Given the description of an element on the screen output the (x, y) to click on. 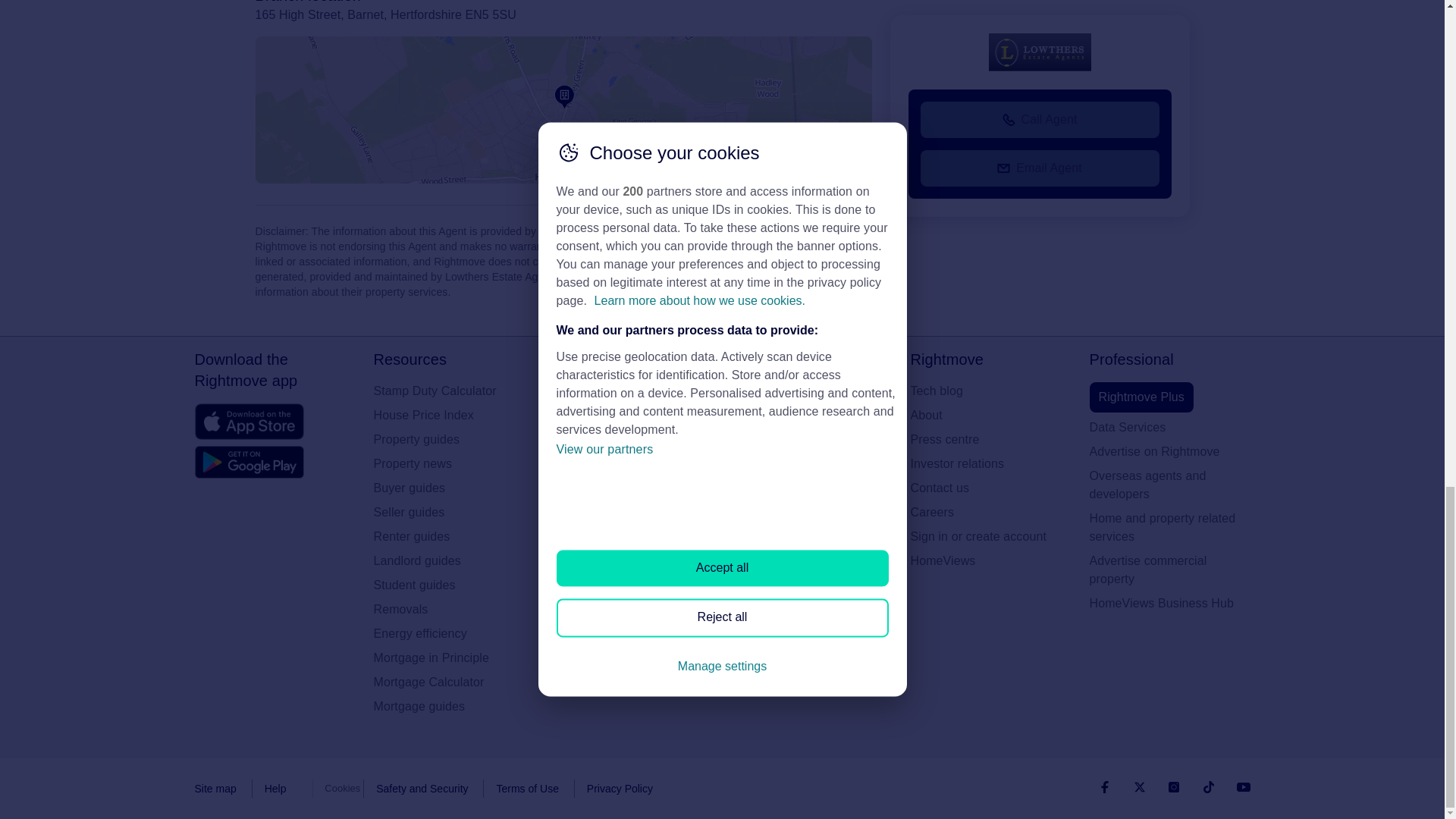
Removals (453, 609)
Mortgage calculator (453, 682)
Seller guides (453, 512)
Mortgage in Principle (453, 658)
Student guides (453, 585)
Energy efficiency (453, 633)
Search homes for rent (632, 415)
Landlord guides (453, 561)
Stamp duty calculator (453, 391)
Overseas homes for sale (632, 488)
Renter guides (453, 536)
House price index (453, 415)
Property guides (453, 439)
Mortgage guides (453, 706)
Search sold house prices (632, 512)
